Given the description of an element on the screen output the (x, y) to click on. 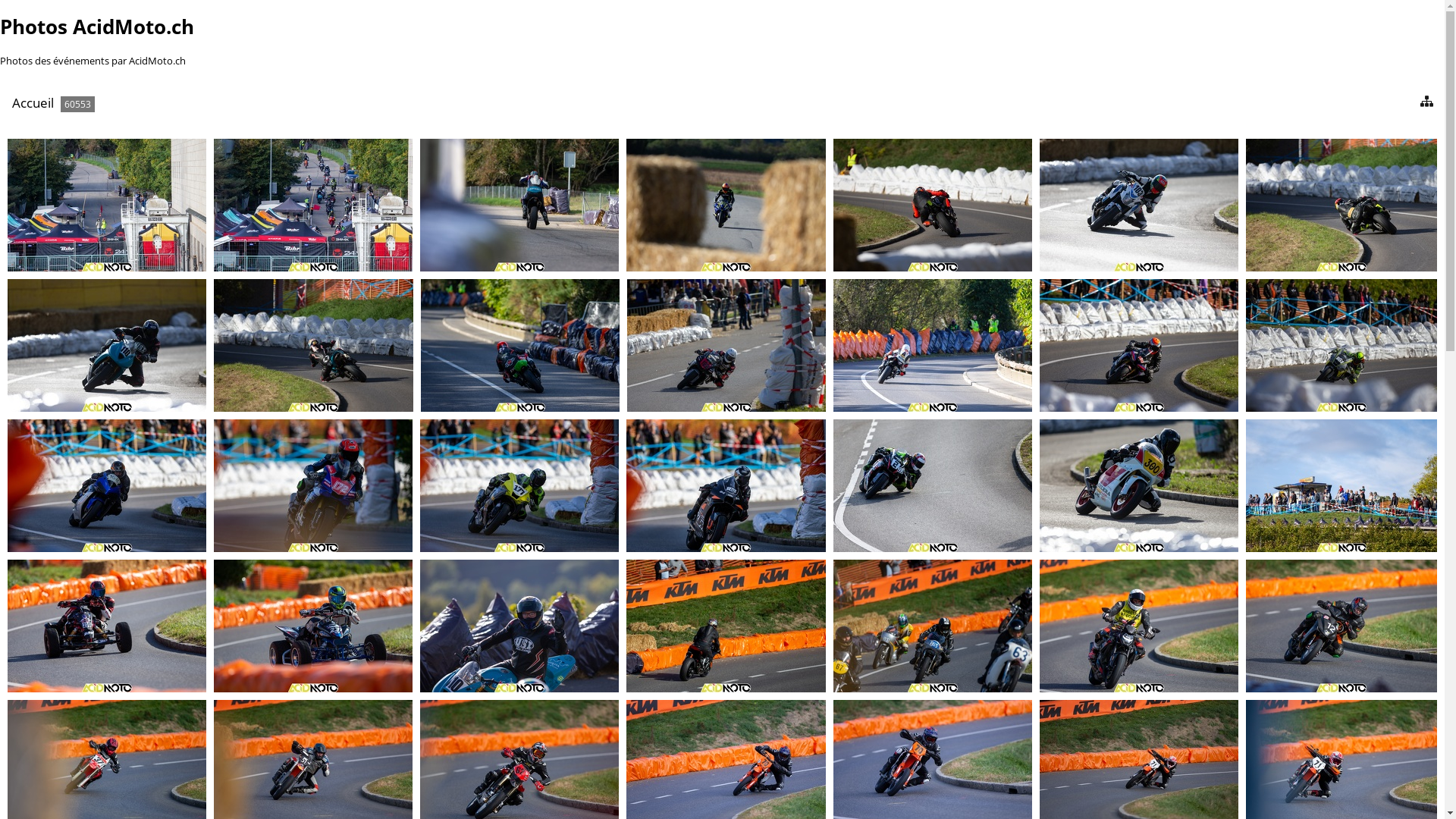
15102023- V6Q1939 (19 visites) Element type: hover (932, 625)
15102023- V6Q1871 (37 visites) Element type: hover (1138, 344)
15102023- V6Q1964 (38 visites) Element type: hover (1341, 625)
15102023- V6Q1834 (43 visites) Element type: hover (1138, 204)
15102023- V6Q1878 (40 visites) Element type: hover (312, 485)
15102023- V6Q1845 (46 visites) Element type: hover (312, 344)
Accueil Element type: text (32, 102)
15102023- V6Q1863 (38 visites) Element type: hover (932, 344)
15102023- V6Q1953 (35 visites) Element type: hover (1138, 625)
15102023- V6Q1901 (41 visites) Element type: hover (932, 485)
15102023- V6Q1930 (29 visites) Element type: hover (725, 625)
diaporama Element type: hover (1405, 101)
15102023- V6Q1839 (47 visites) Element type: hover (1341, 204)
15102023- V6Q1821 (42 visites) Element type: hover (725, 204)
15102023- V6Q1916 (10 visites) Element type: hover (312, 625)
15102023- V6Q1855 (45 visites) Element type: hover (519, 344)
15102023- V6Q1886 (40 visites) Element type: hover (725, 485)
15102023- V6Q1873 (34 visites) Element type: hover (1341, 344)
15102023- V6Q1903 (21 visites) Element type: hover (1138, 485)
15102023- V6Q1880 (40 visites) Element type: hover (519, 485)
15102023- V6Q1905 (26 visites) Element type: hover (1341, 485)
15102023- V6Q1858 (42 visites) Element type: hover (726, 344)
15102023- V6Q1824 (43 visites) Element type: hover (932, 204)
15102023- V6Q1917 (26 visites) Element type: hover (519, 625)
15102023- V6Q1797 (29 visites) Element type: hover (312, 204)
15102023- V6Q1815 (43 visites) Element type: hover (519, 204)
